Given the description of an element on the screen output the (x, y) to click on. 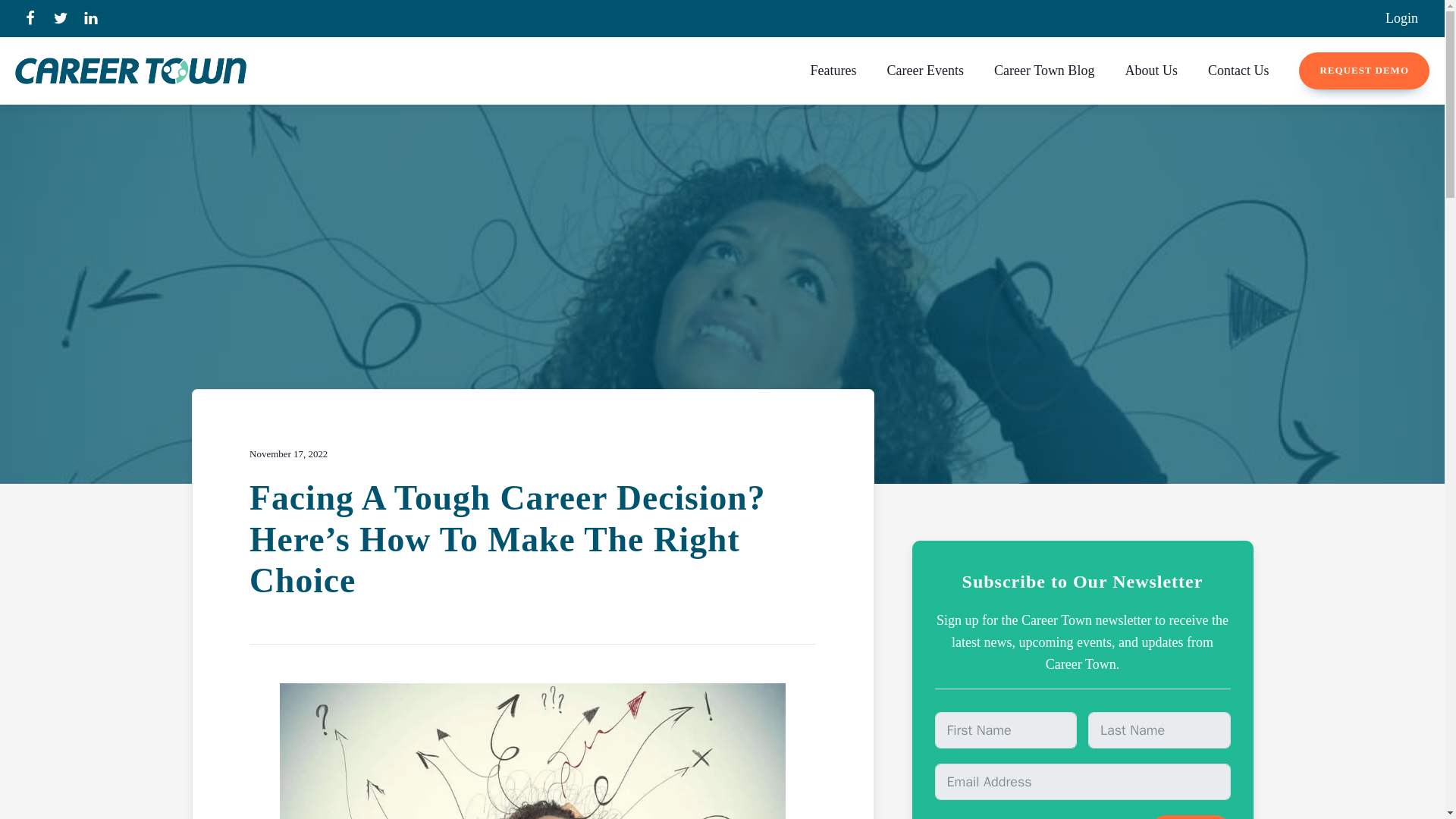
Login (1402, 18)
Career Events (925, 70)
REQUEST DEMO (1363, 70)
Contact Us (1238, 70)
Features (833, 70)
Subscribe (1190, 816)
About Us (1150, 70)
Career Town Blog (1043, 70)
